Given the description of an element on the screen output the (x, y) to click on. 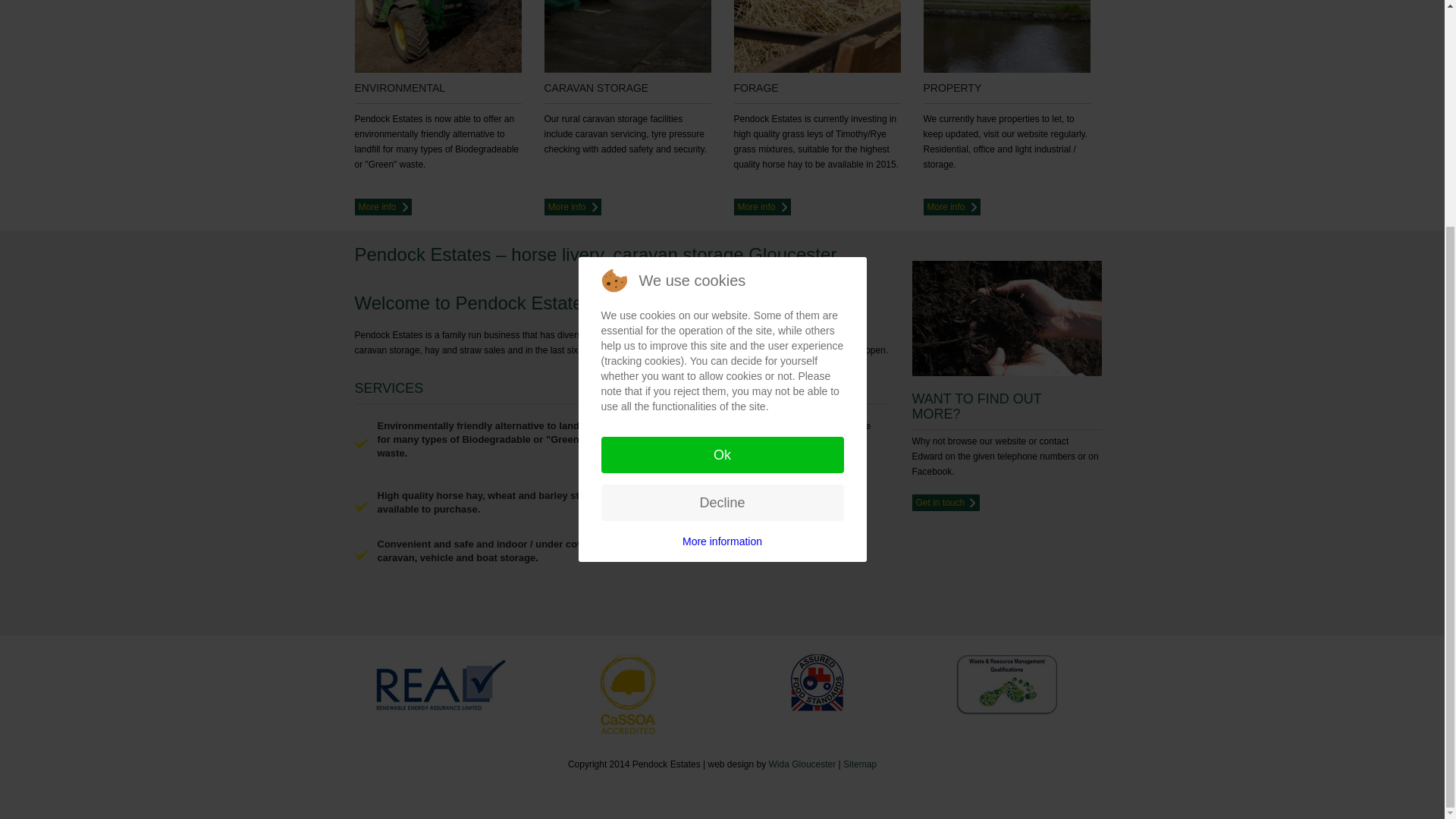
Sitemap (859, 764)
More info (951, 207)
Decline (721, 198)
More information (721, 237)
More info (383, 207)
Wida Gloucester (801, 764)
Get in touch (945, 501)
More info (761, 207)
Ok (721, 150)
More info (572, 207)
